Given the description of an element on the screen output the (x, y) to click on. 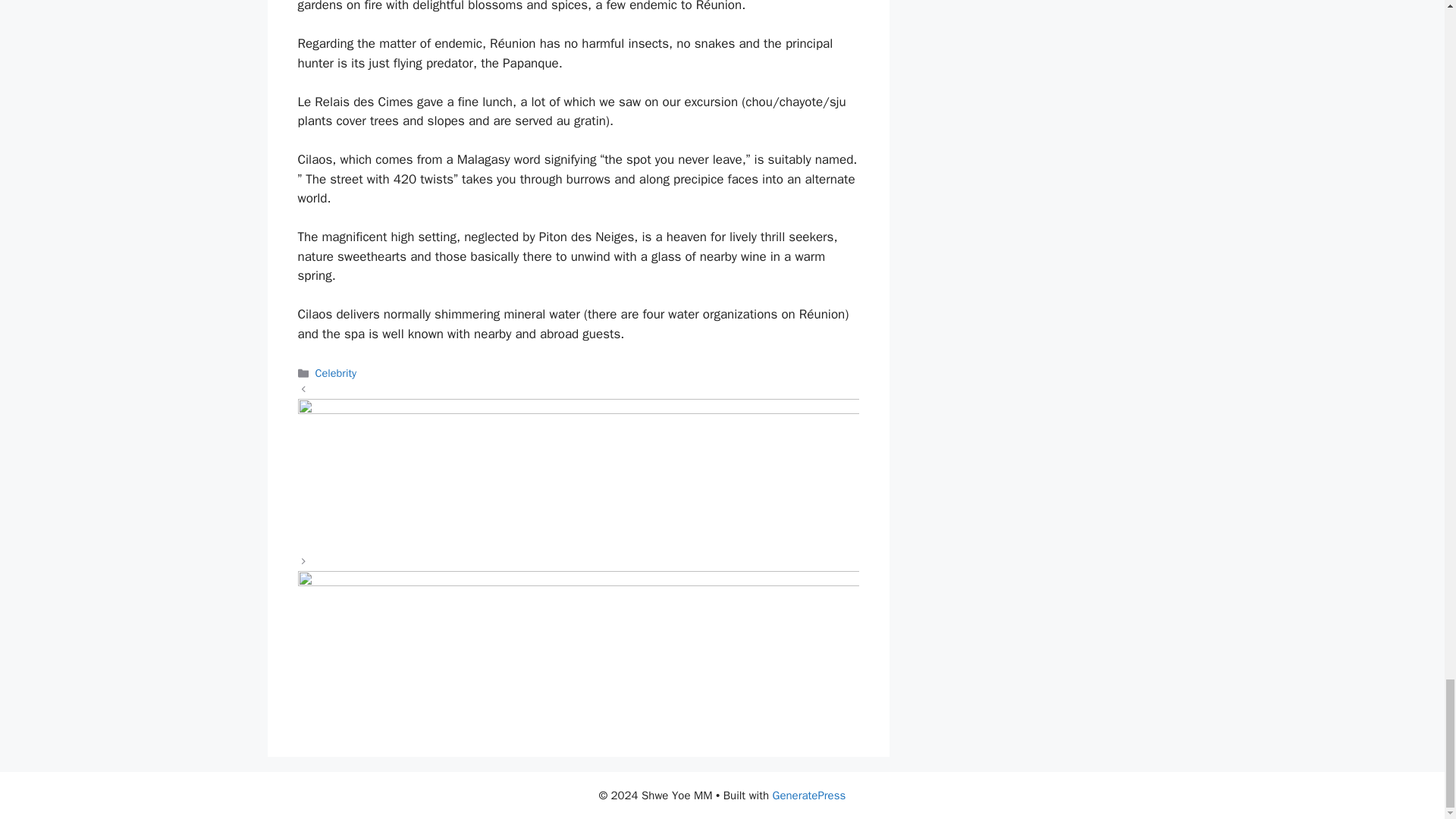
Celebrity (335, 373)
GeneratePress (809, 795)
